Given the description of an element on the screen output the (x, y) to click on. 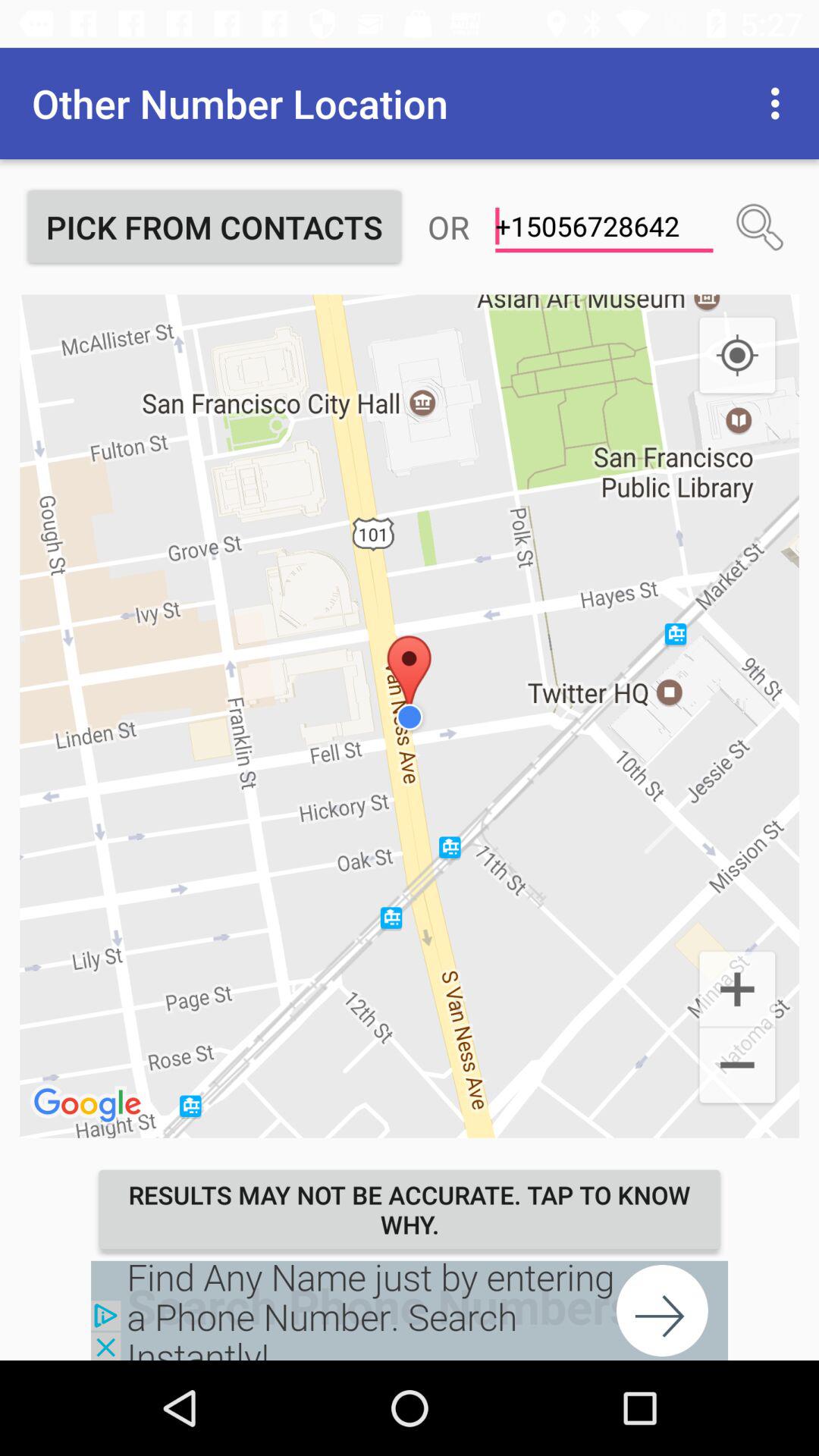
bring up the advertisement (409, 1310)
